Given the description of an element on the screen output the (x, y) to click on. 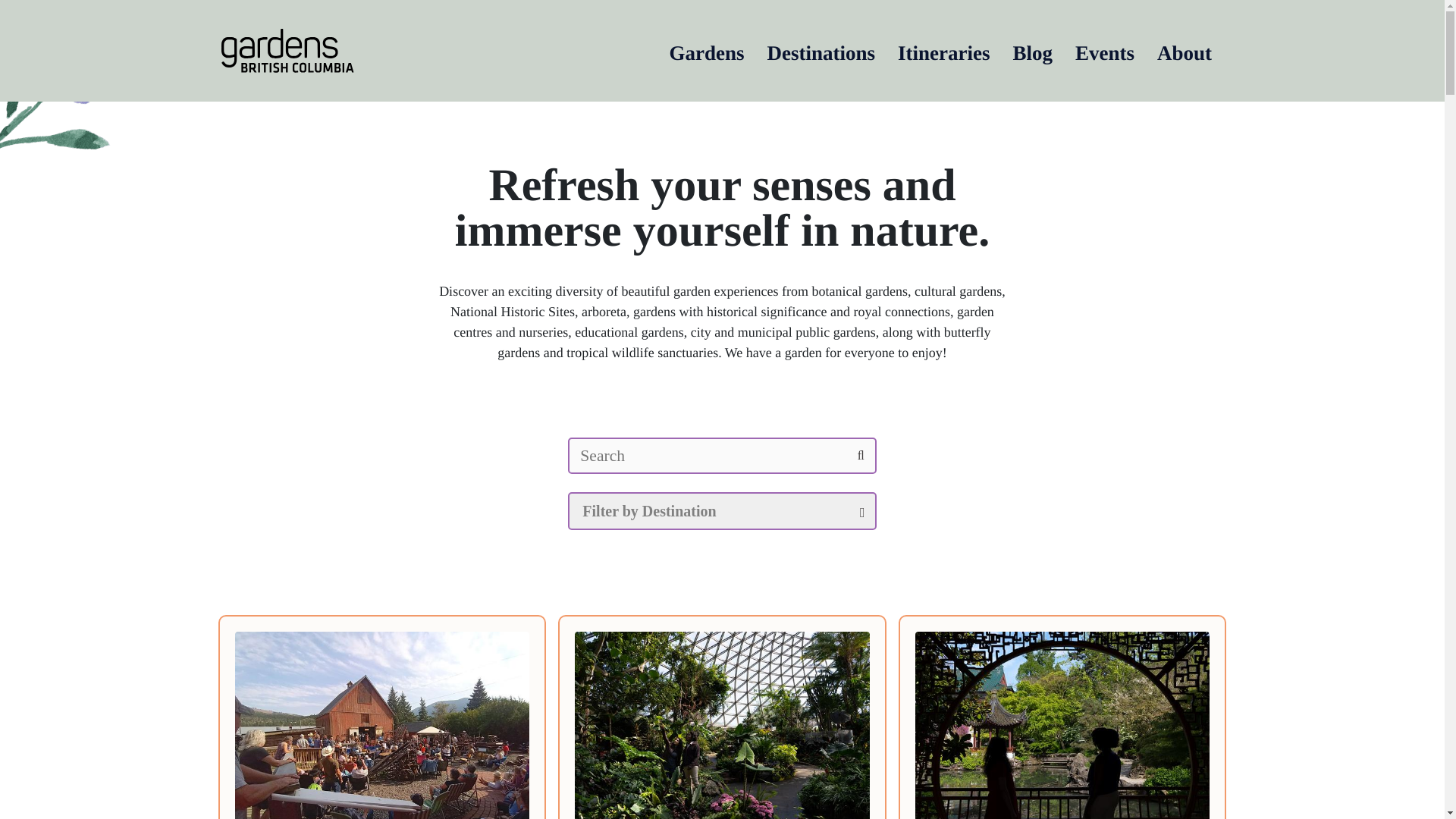
Destinations (821, 50)
Gardens (706, 50)
Itineraries (944, 50)
Events (1104, 50)
About (1184, 50)
Blog (1031, 50)
